Given the description of an element on the screen output the (x, y) to click on. 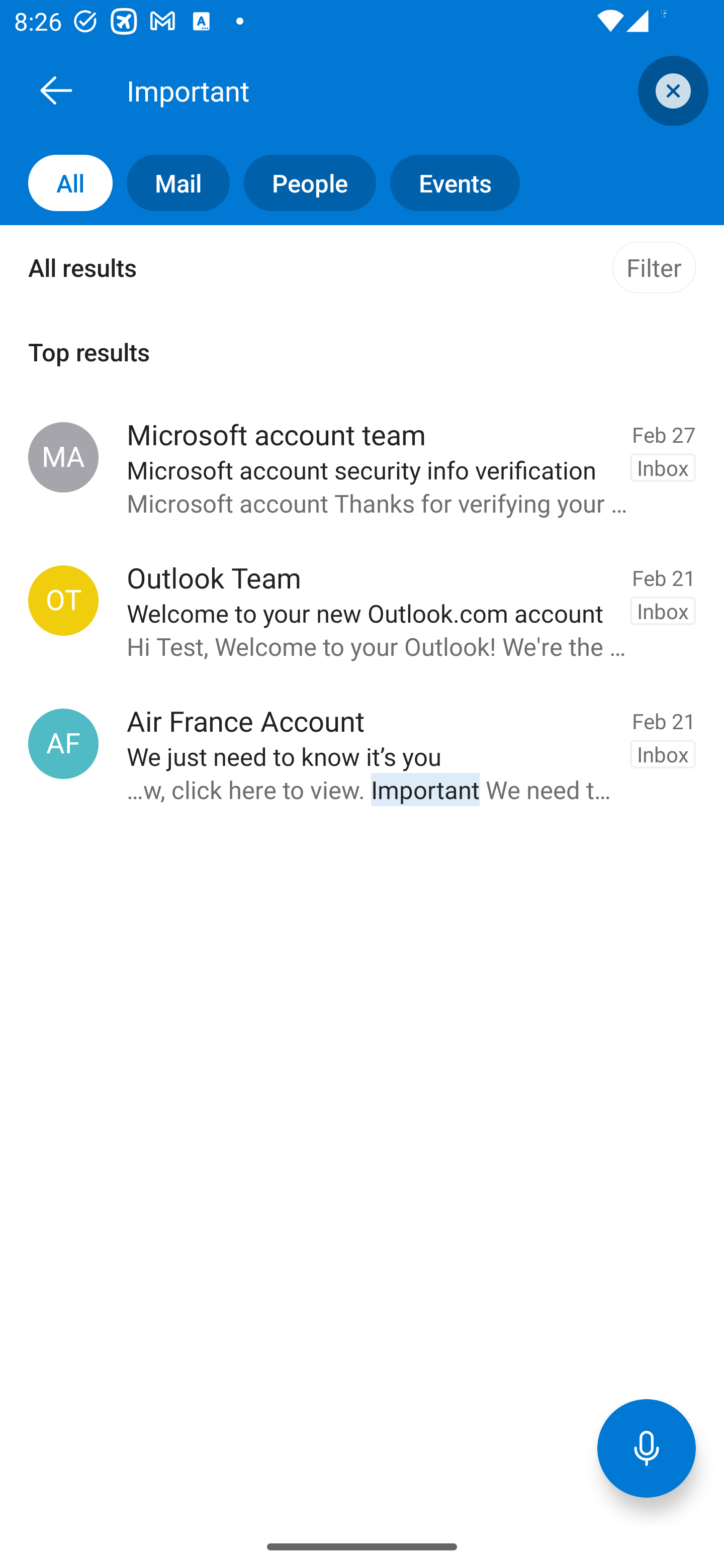
Back (55, 89)
Important (384, 89)
clear search (670, 90)
Mail (170, 183)
People (302, 183)
Events (447, 183)
Filter (653, 267)
Voice Assistant (646, 1447)
